Given the description of an element on the screen output the (x, y) to click on. 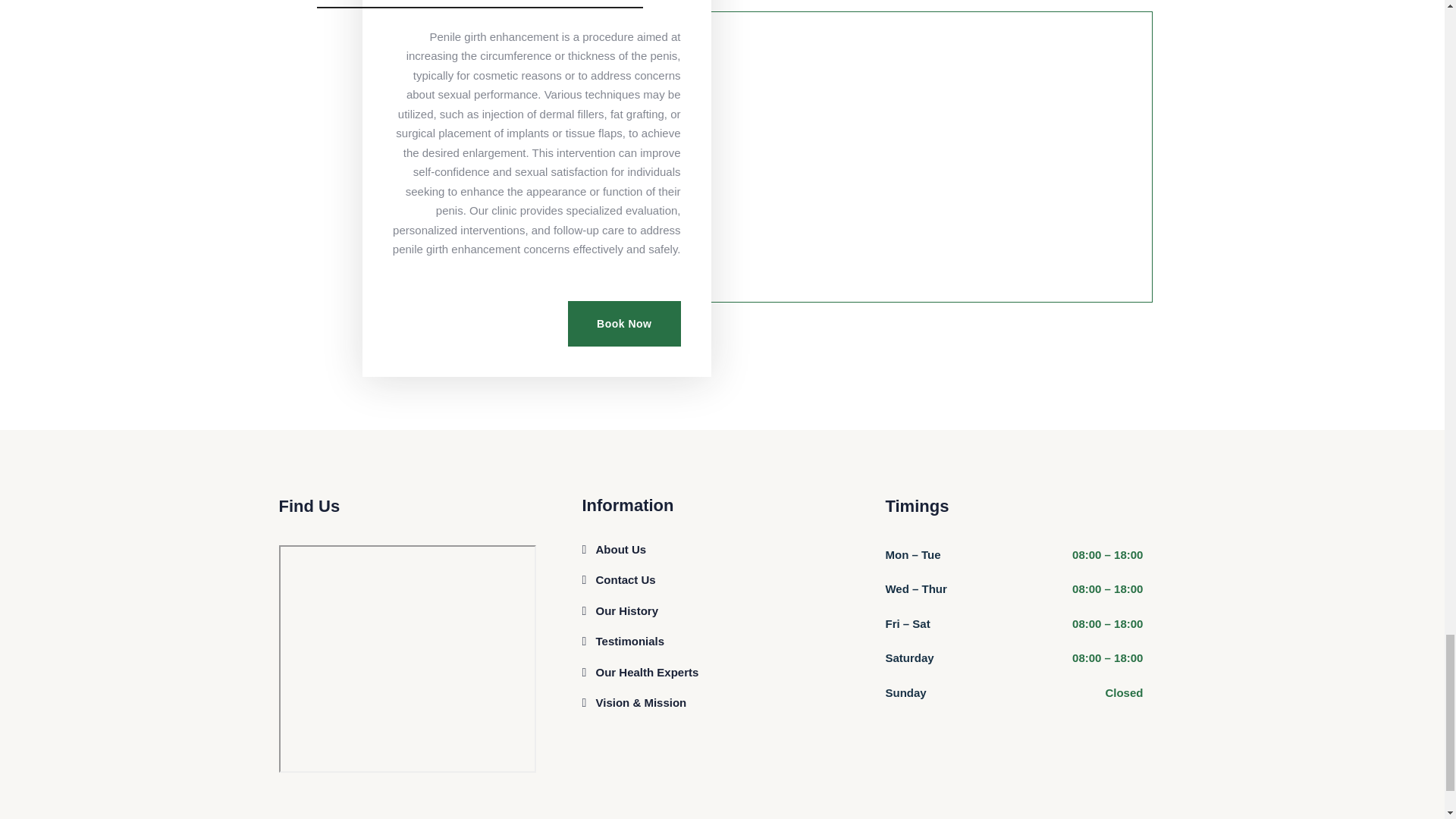
Google Map (408, 658)
